Given the description of an element on the screen output the (x, y) to click on. 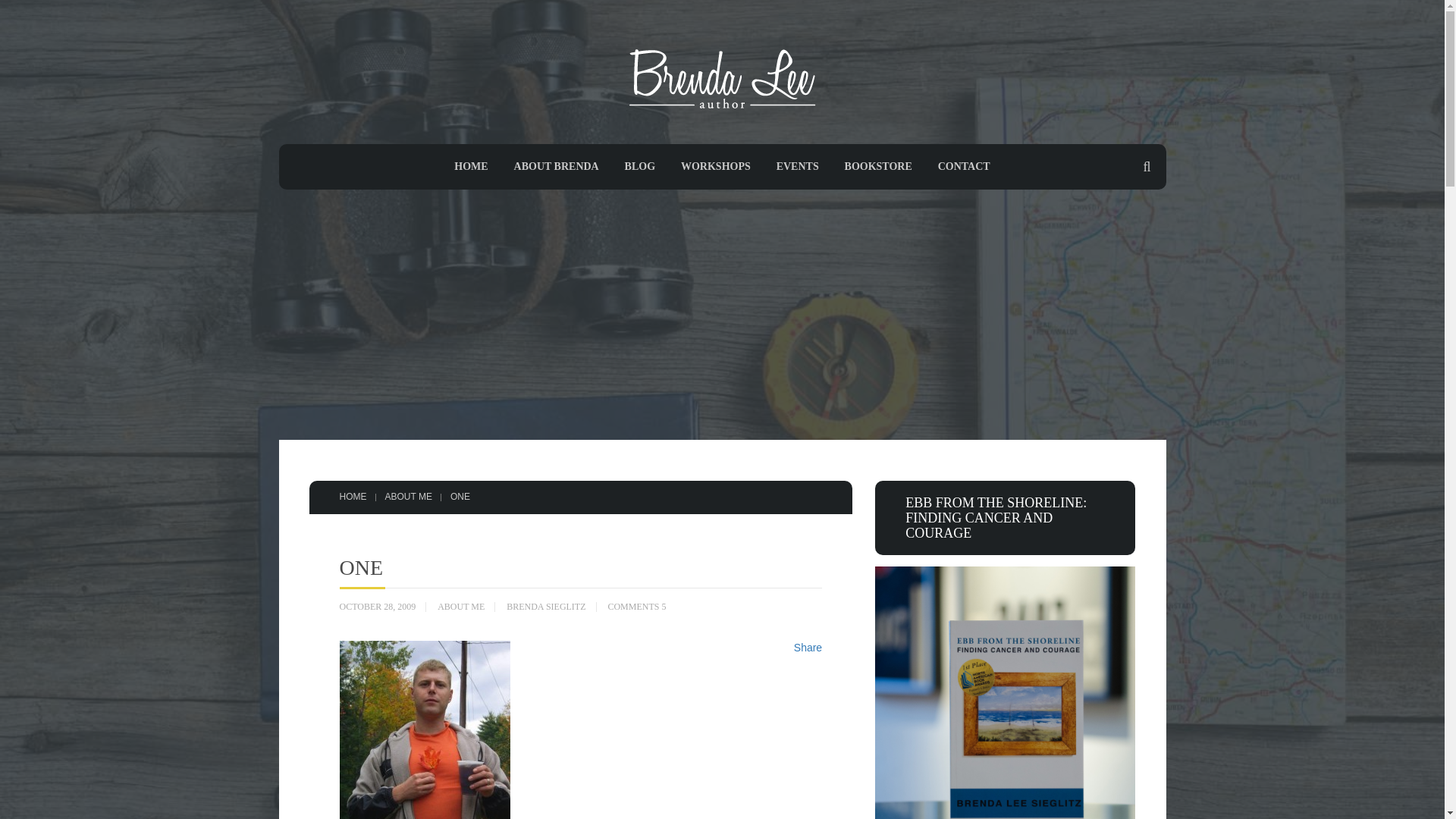
BRENDA SIEGLITZ (545, 606)
WORKSHOPS (715, 165)
BOOKSTORE (877, 165)
Posts by Brenda Sieglitz (545, 606)
ABOUT ME (408, 496)
COMMENTS 5 (636, 606)
Share (807, 647)
OCTOBER 28, 2009 (377, 606)
CONTACT (963, 165)
ABOUT BRENDA (555, 165)
About Me (408, 496)
HOME (470, 165)
EVENTS (796, 165)
ABOUT ME (461, 606)
kevin (425, 729)
